Given the description of an element on the screen output the (x, y) to click on. 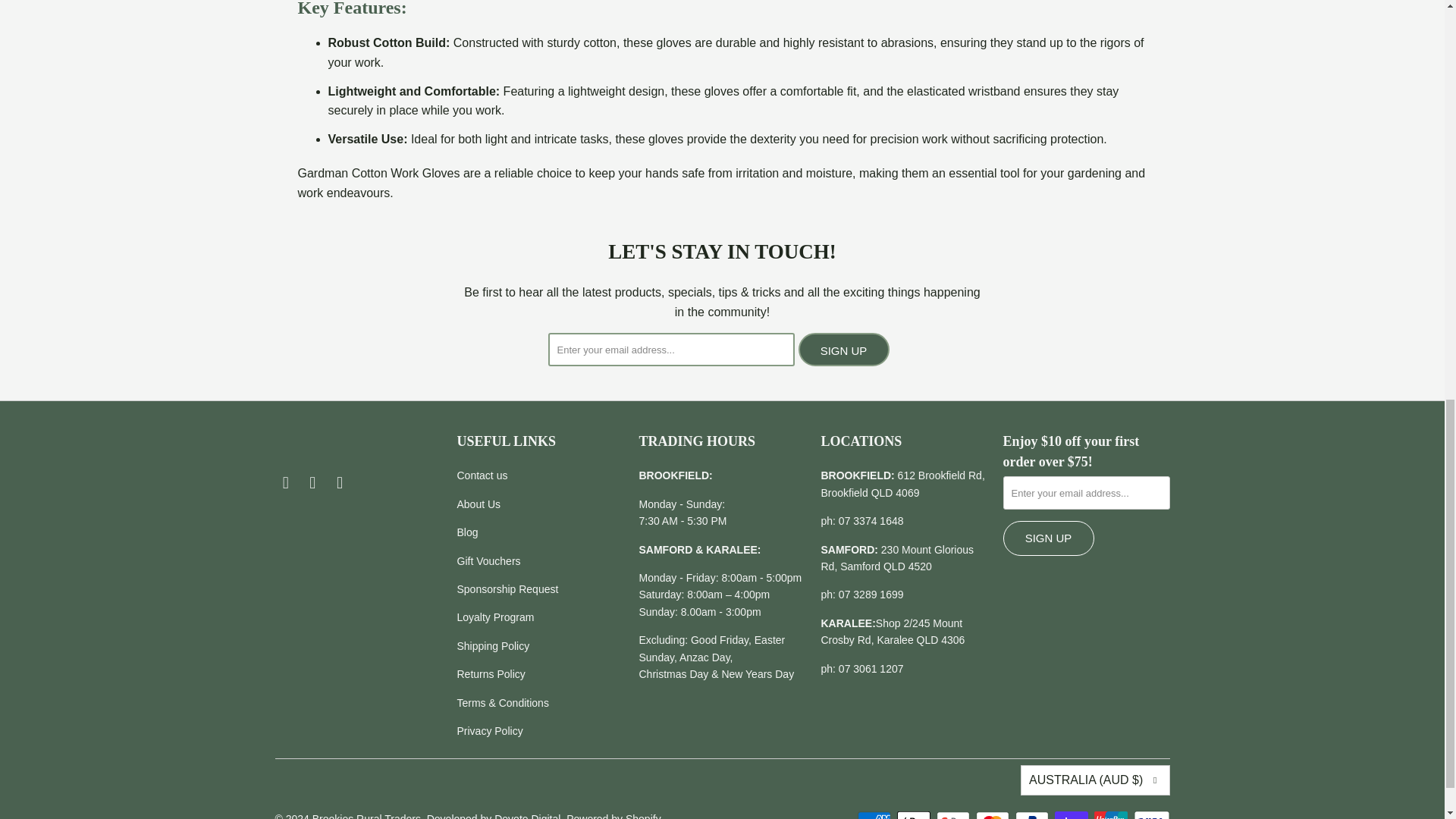
PayPal (1032, 814)
Apple Pay (914, 814)
Mastercard (993, 814)
Brookies Rural Traders on Facebook (286, 483)
American Express (875, 814)
Brookies Rural Traders on YouTube (340, 483)
Sign Up (1048, 538)
Union Pay (1112, 814)
Brookies Rural Traders on Instagram (312, 483)
Visa (1150, 814)
